Given the description of an element on the screen output the (x, y) to click on. 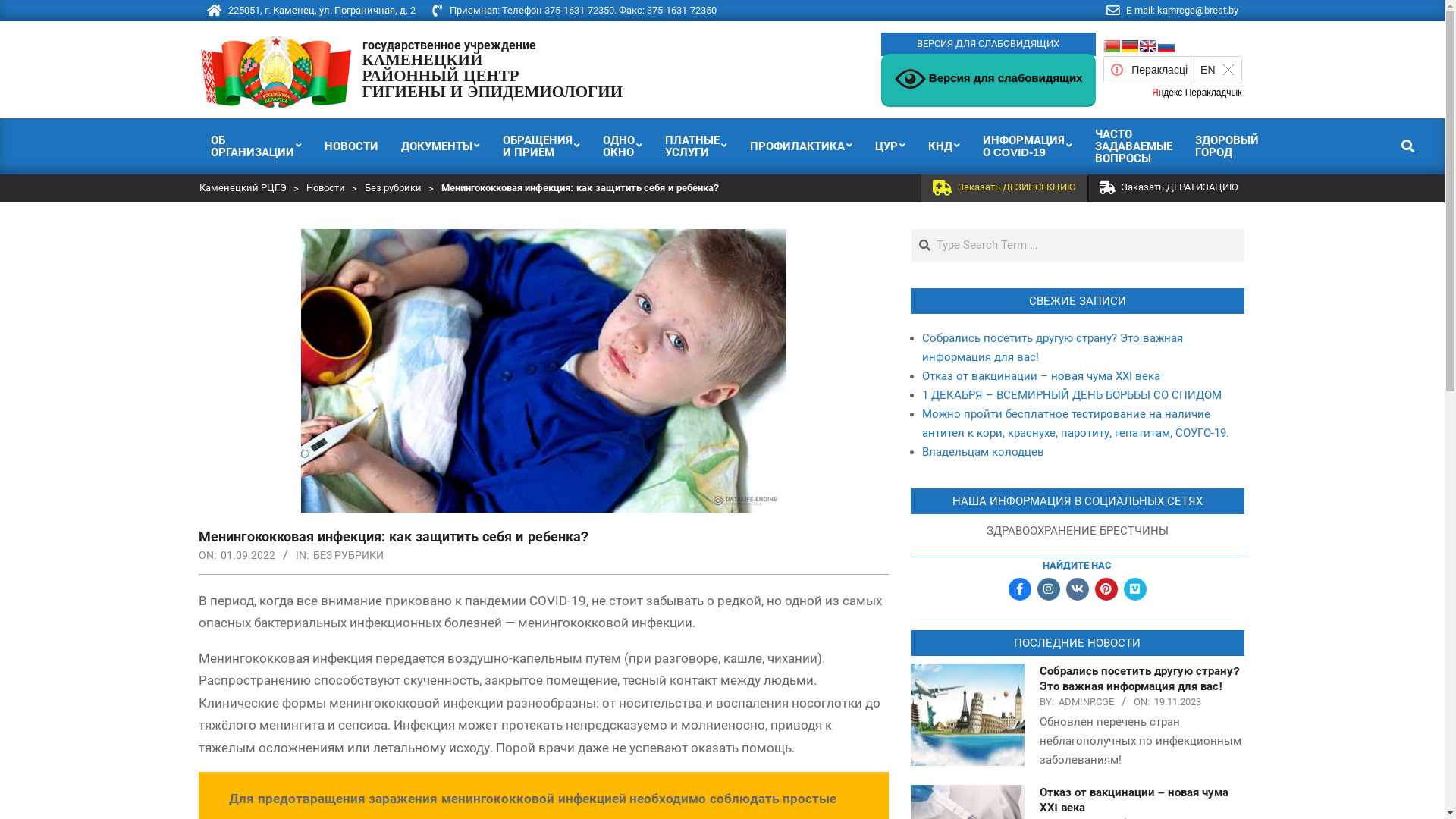
German Element type: hover (1129, 46)
Russian Element type: hover (1165, 46)
Belarusian Element type: hover (1111, 46)
ADMINRCGE Element type: text (1085, 701)
Search Element type: text (21, 9)
English Element type: hover (1147, 46)
